Given the description of an element on the screen output the (x, y) to click on. 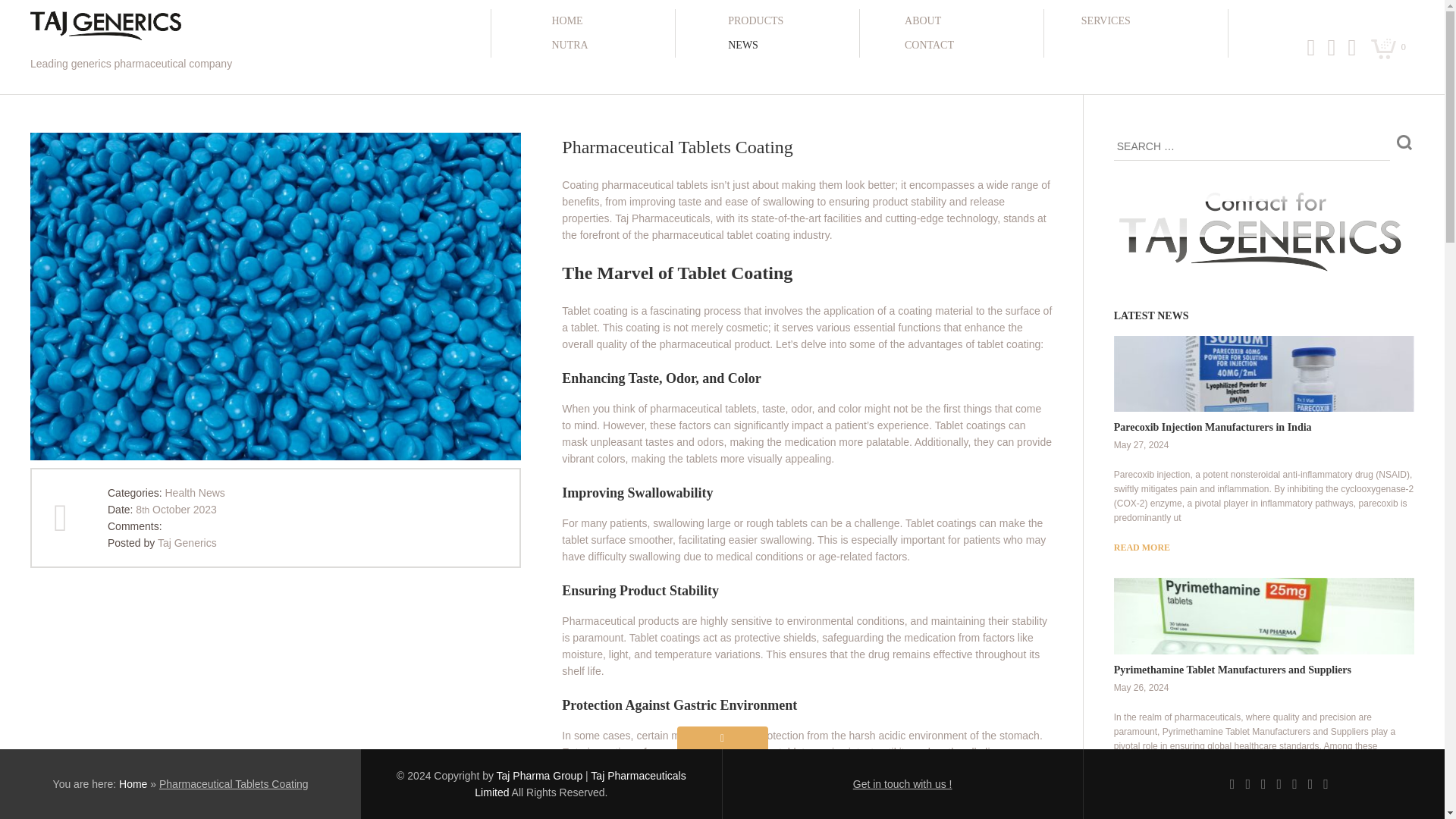
Search (1403, 142)
HOME (609, 21)
View all posts by Taj Generics (186, 542)
ABOUT (963, 21)
Search (1403, 142)
PRODUCTS (786, 21)
Search for: (1251, 146)
